Given the description of an element on the screen output the (x, y) to click on. 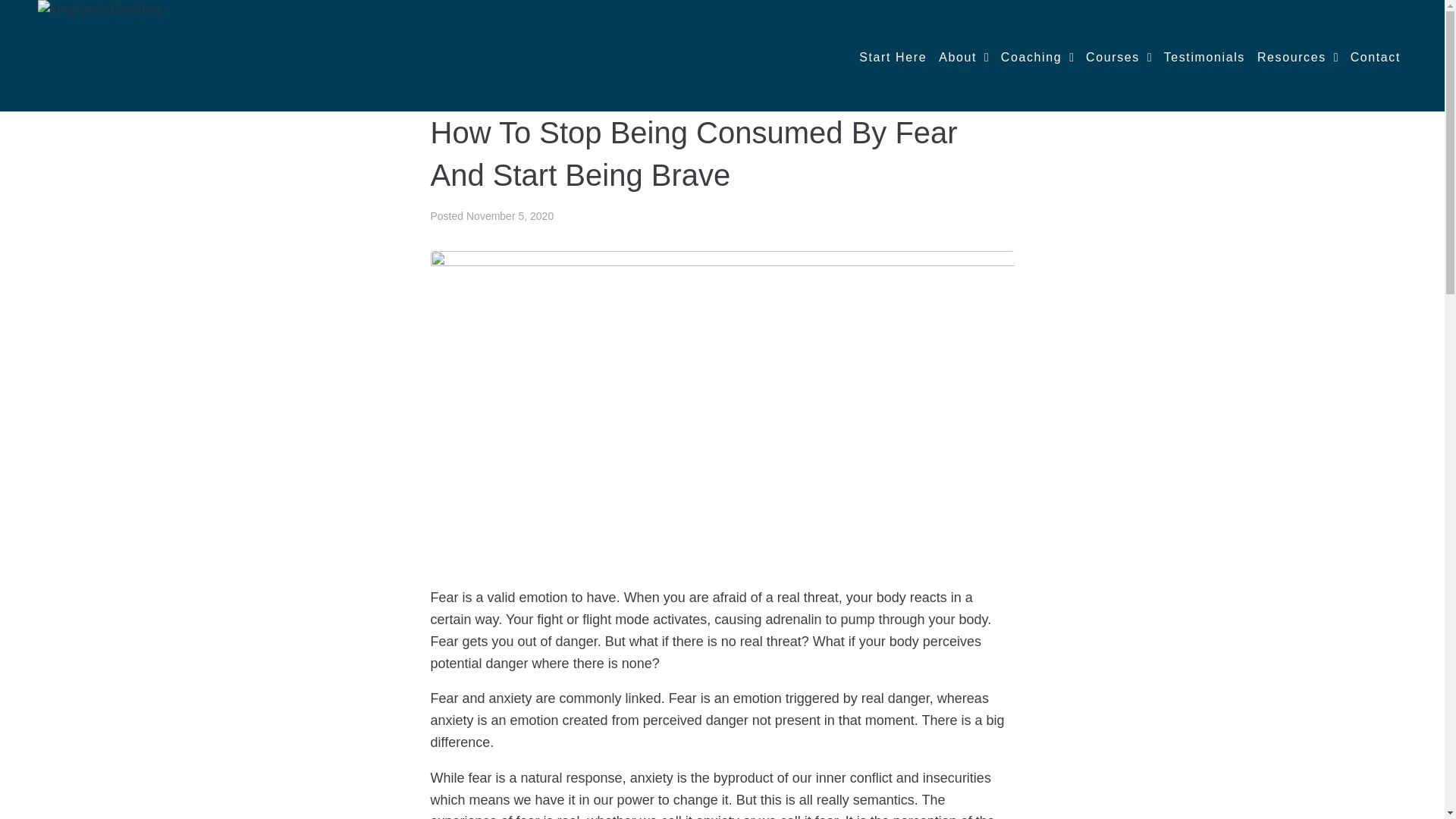
About (963, 57)
Resources (1297, 57)
Testimonials (1203, 57)
Contact (1375, 57)
Start Here (892, 57)
Coaching (1037, 57)
Courses (1118, 57)
